Given the description of an element on the screen output the (x, y) to click on. 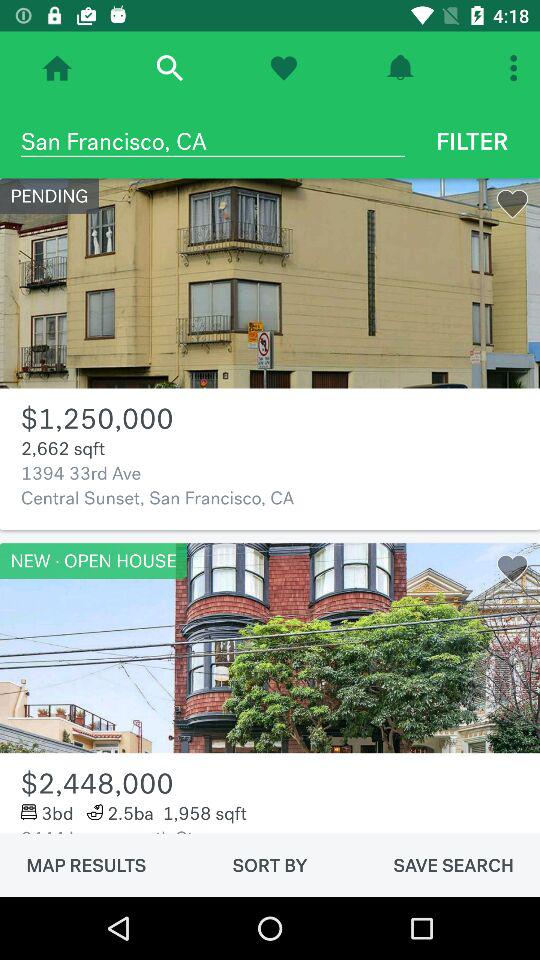
open the home page in my browser (57, 68)
